Given the description of an element on the screen output the (x, y) to click on. 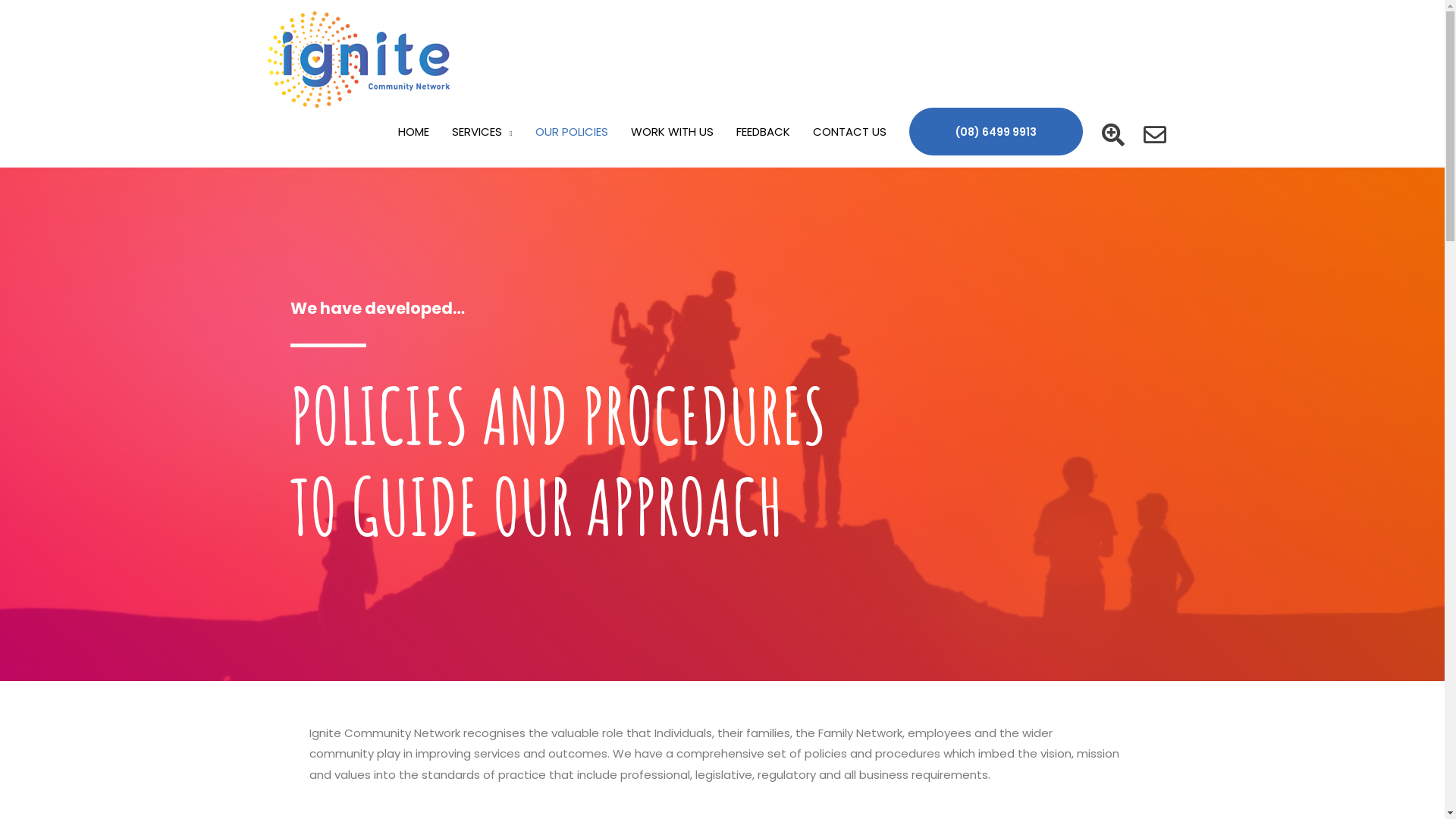
HOME Element type: text (413, 131)
(08) 6499 9913 Element type: text (995, 131)
OUR POLICIES Element type: text (570, 131)
WORK WITH US Element type: text (671, 131)
CONTACT US Element type: text (848, 131)
SERVICES Element type: text (481, 131)
(08) 6499 9913 Element type: text (995, 131)
FEEDBACK Element type: text (762, 131)
